Given the description of an element on the screen output the (x, y) to click on. 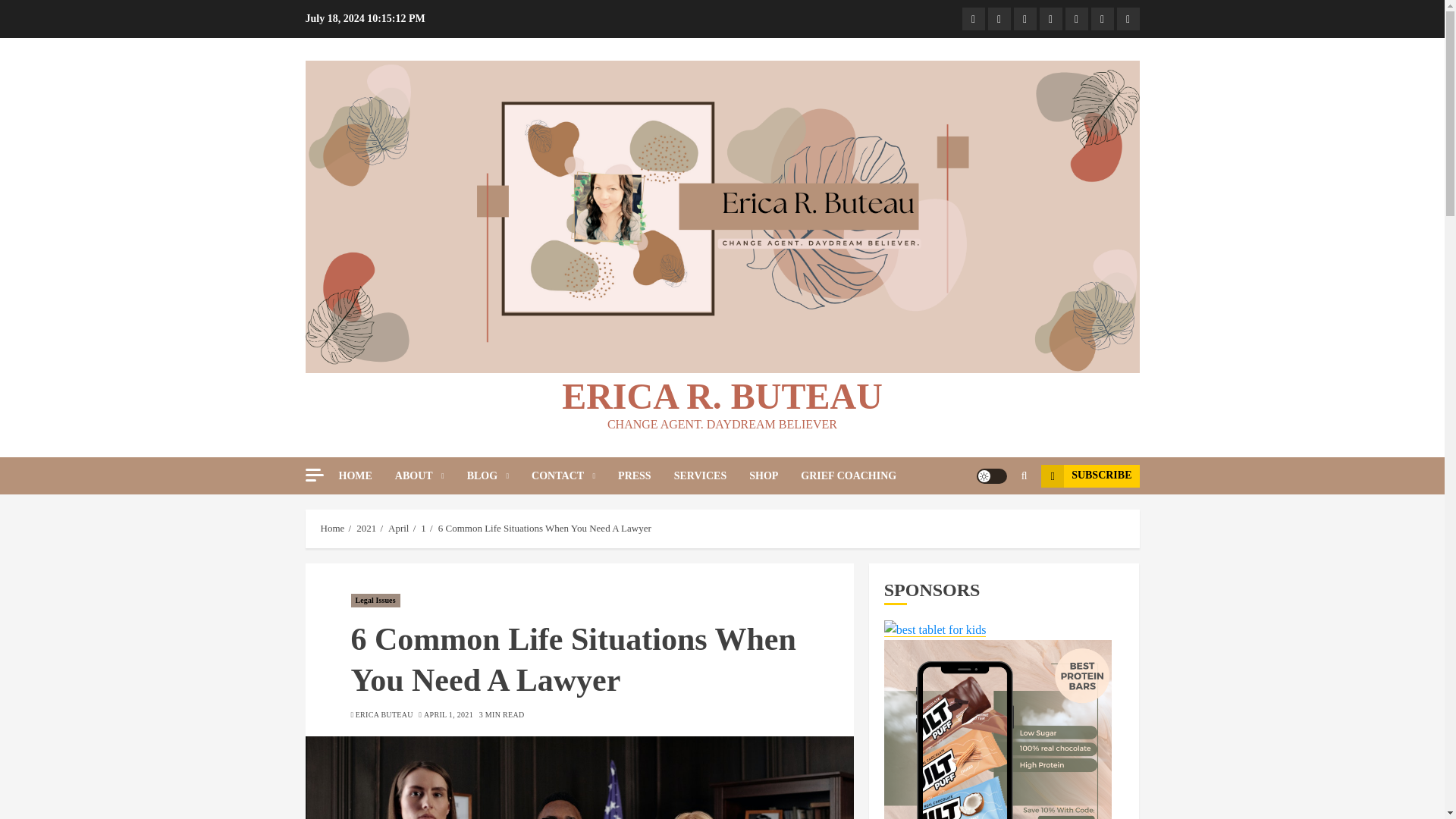
TikTok (972, 18)
ABOUT (430, 475)
FB (1050, 18)
Instagram (998, 18)
BLOG (499, 475)
Fantastic kids gifts for learning and fun (935, 629)
Pinterest (1024, 18)
Youtube (1075, 18)
The Best Protein Bar I Ever Had (997, 729)
ERICA R. BUTEAU (722, 395)
HOME (365, 475)
Linkedin (1127, 18)
Twitter (1101, 18)
